Given the description of an element on the screen output the (x, y) to click on. 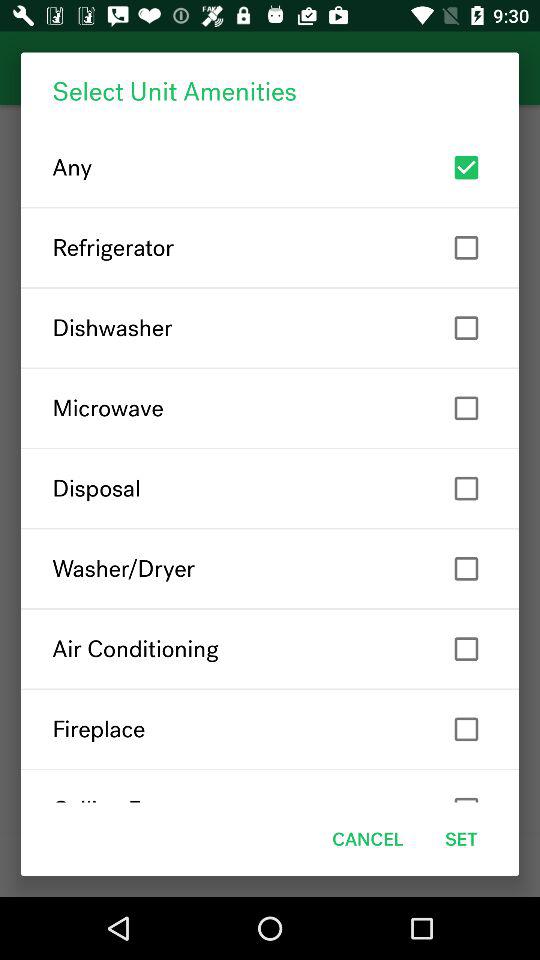
select item below washer/dryer (270, 648)
